Given the description of an element on the screen output the (x, y) to click on. 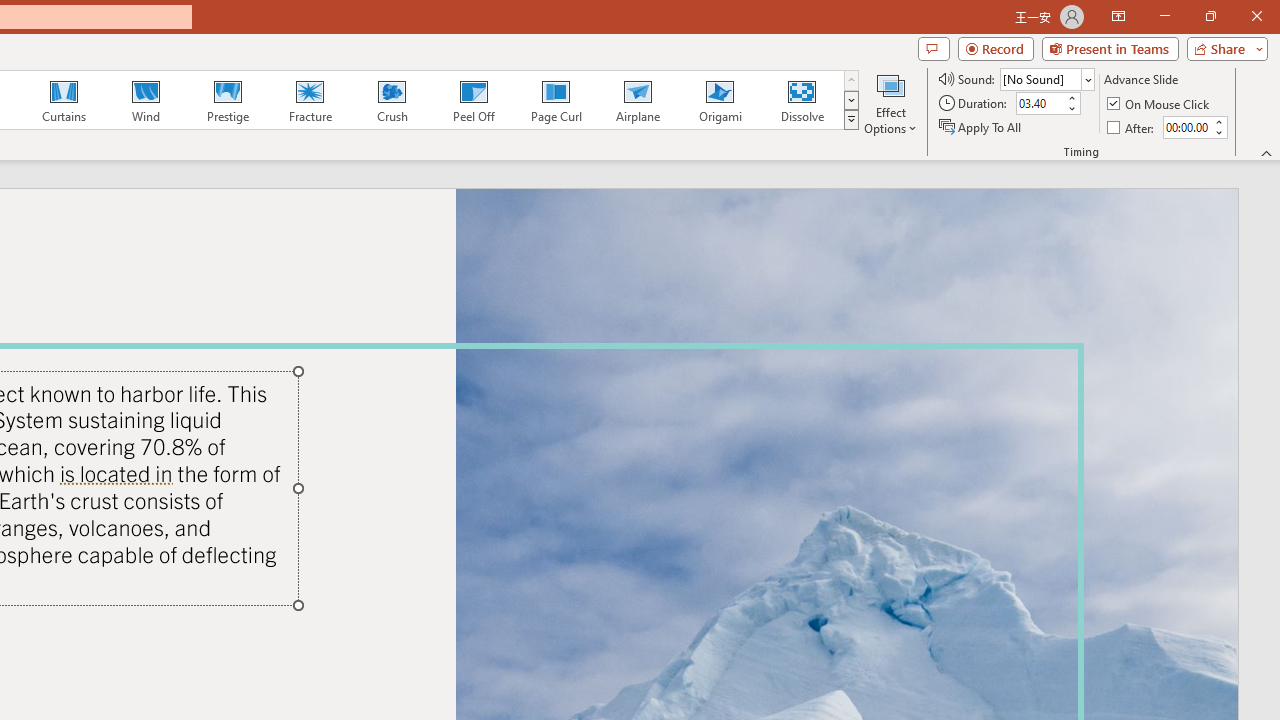
Crush (391, 100)
Transition Effects (850, 120)
Peel Off (473, 100)
